Given the description of an element on the screen output the (x, y) to click on. 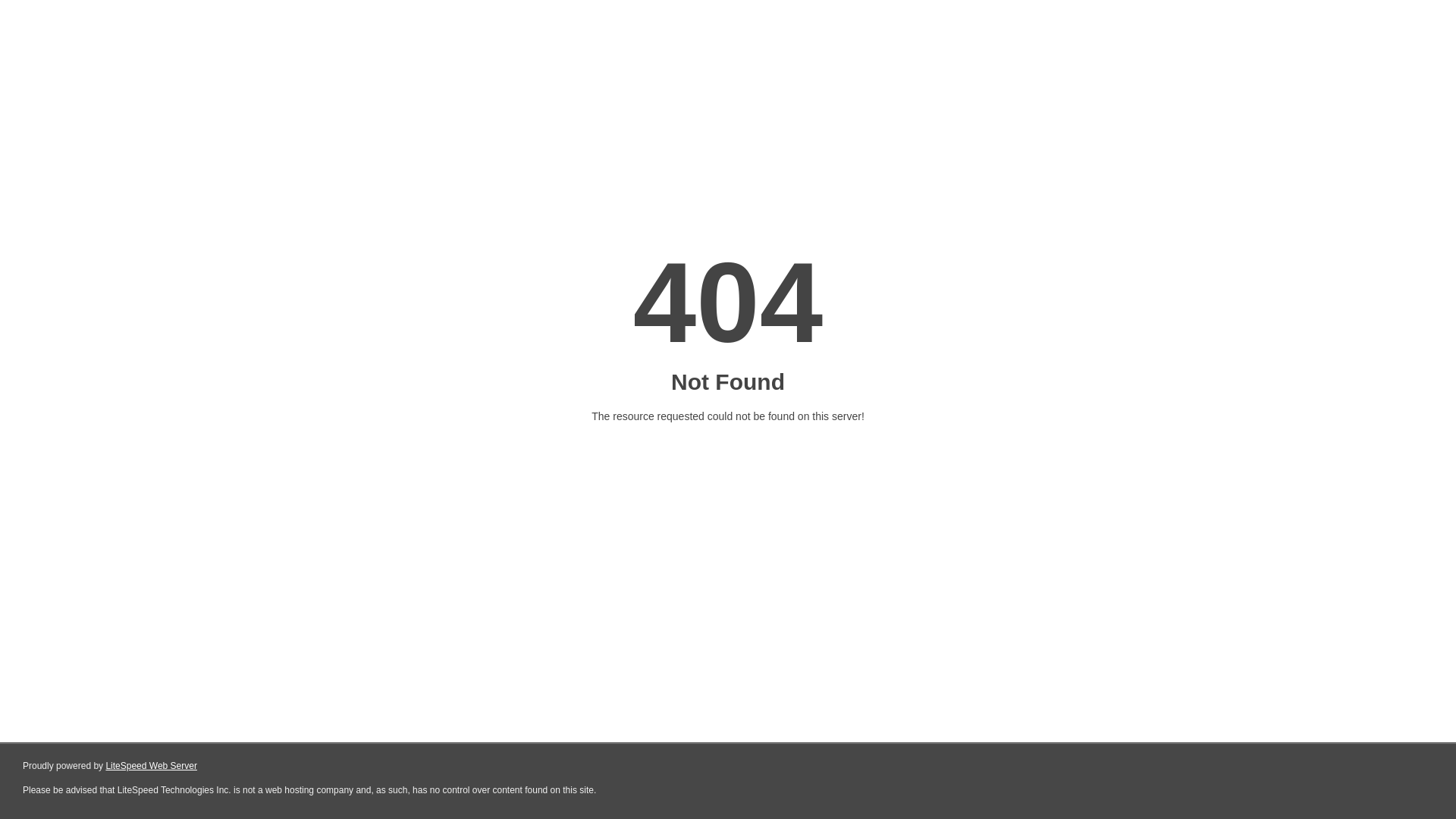
LiteSpeed Web Server Element type: text (151, 765)
